Given the description of an element on the screen output the (x, y) to click on. 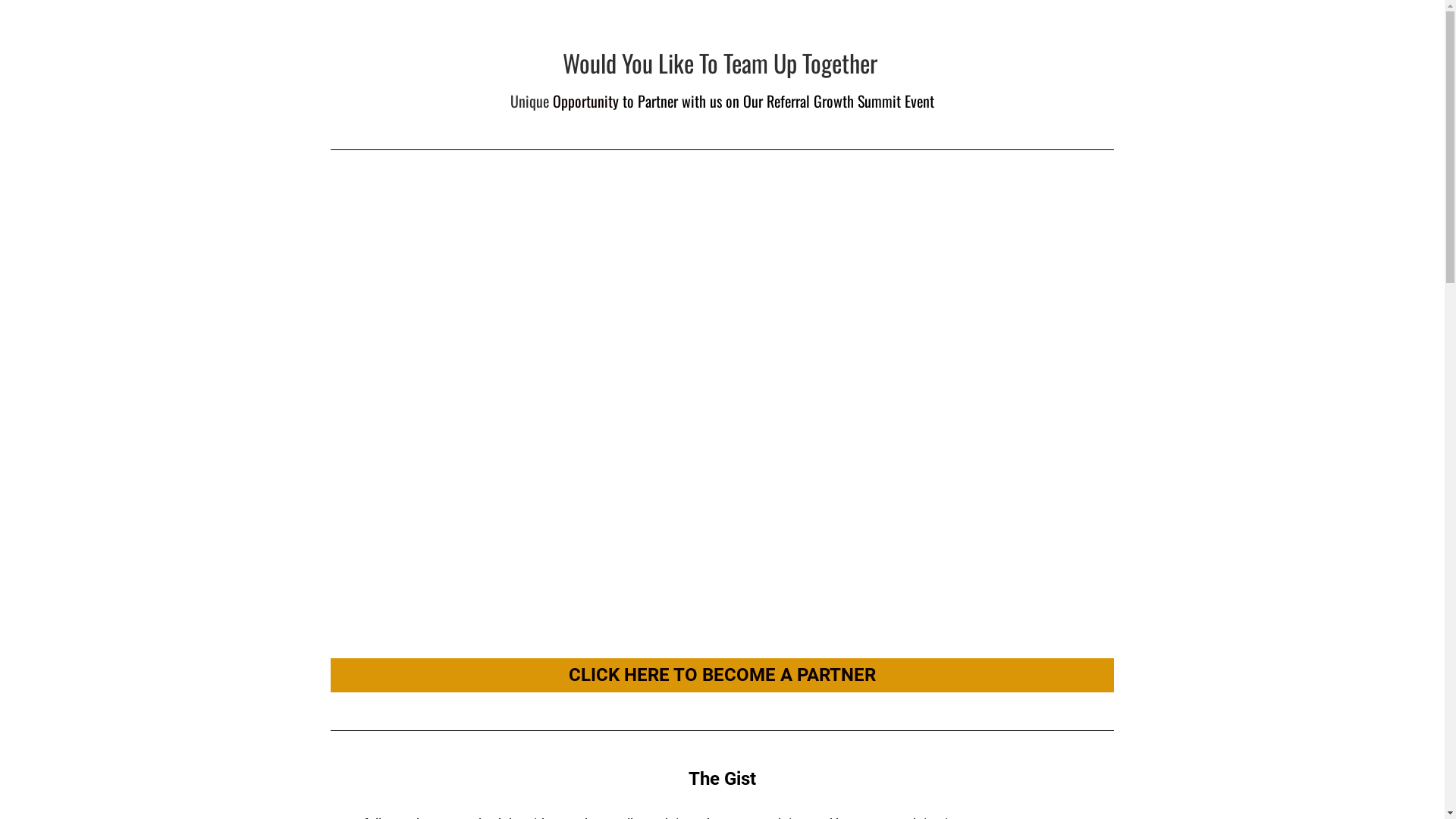
CLICK HERE TO BECOME A PARTNER Element type: text (721, 675)
